Given the description of an element on the screen output the (x, y) to click on. 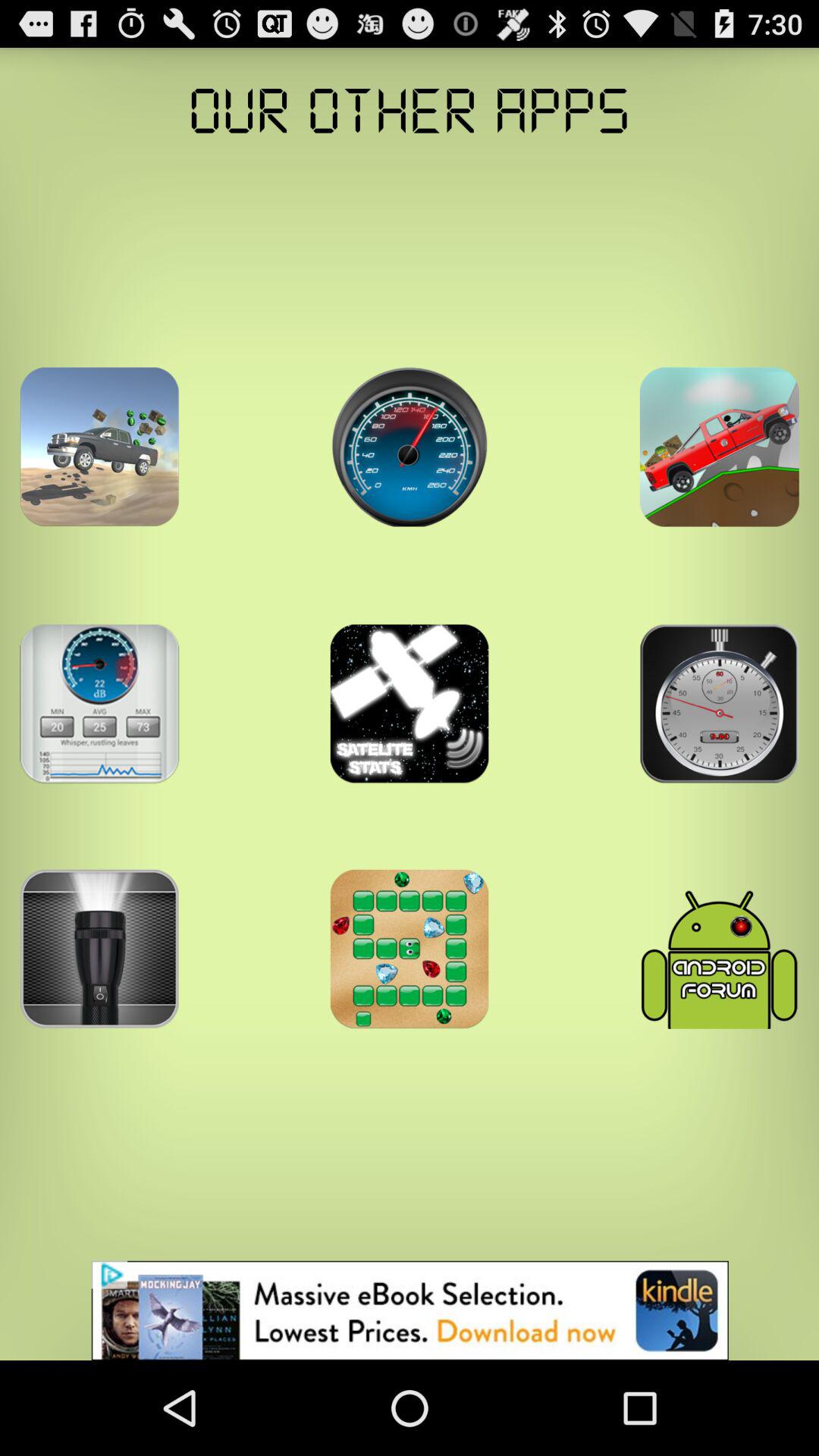
open an app (409, 446)
